Given the description of an element on the screen output the (x, y) to click on. 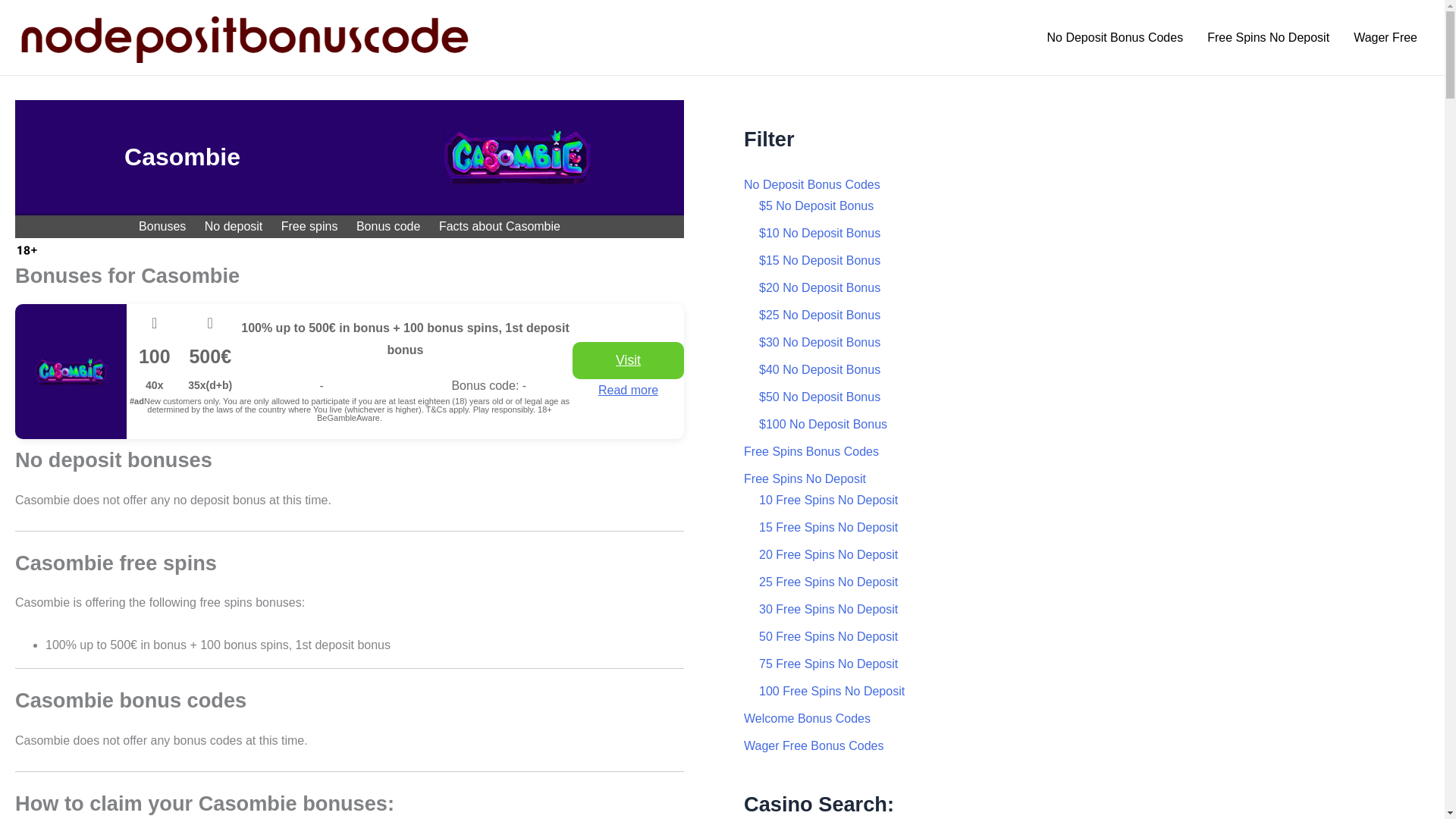
No Deposit Bonus Codes (1114, 37)
Wager Free (1384, 37)
Free Spins No Deposit (1267, 37)
